Given the description of an element on the screen output the (x, y) to click on. 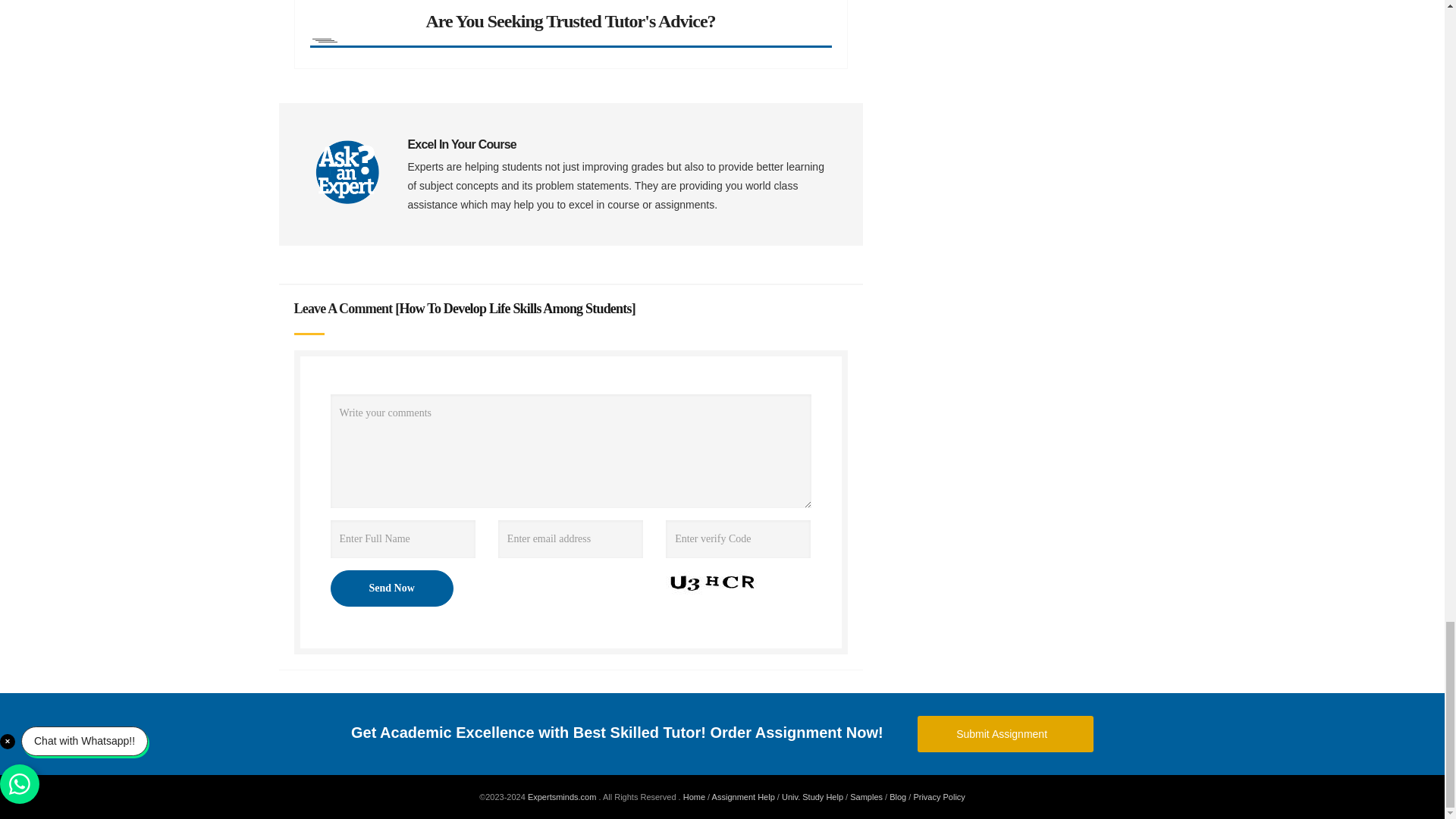
Send Now (391, 588)
